Given the description of an element on the screen output the (x, y) to click on. 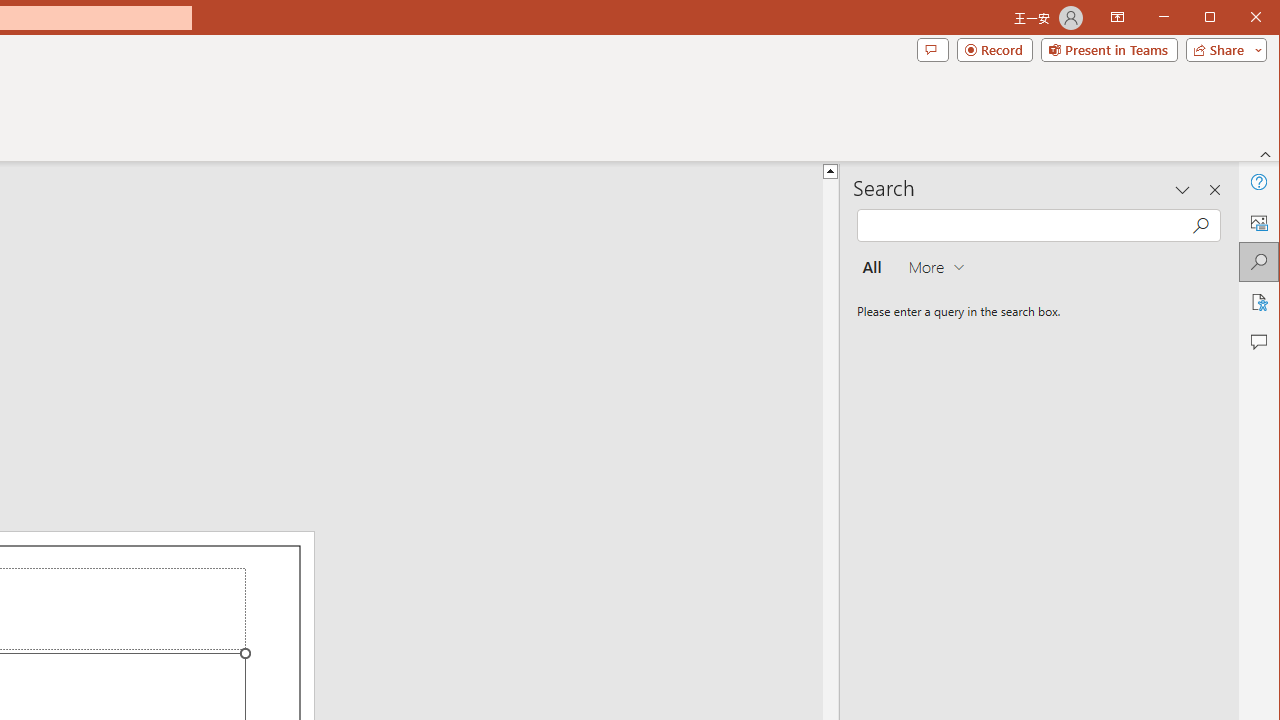
Maximize (1238, 18)
